Given the description of an element on the screen output the (x, y) to click on. 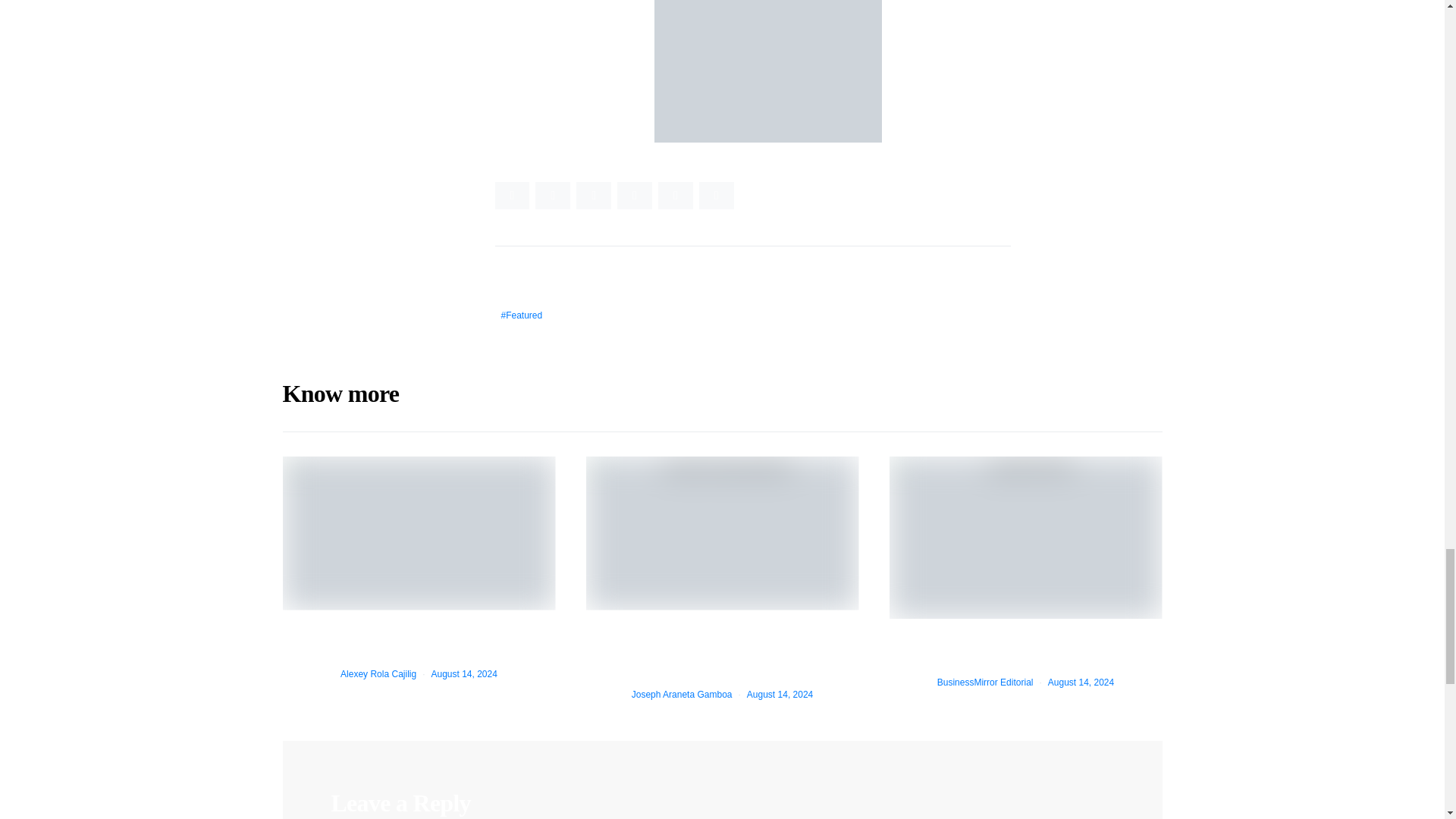
View all posts by Joseph Araneta Gamboa (681, 693)
View all posts by BusinessMirror Editorial (985, 682)
View all posts by Alexey Rola Cajilig (378, 674)
